Given the description of an element on the screen output the (x, y) to click on. 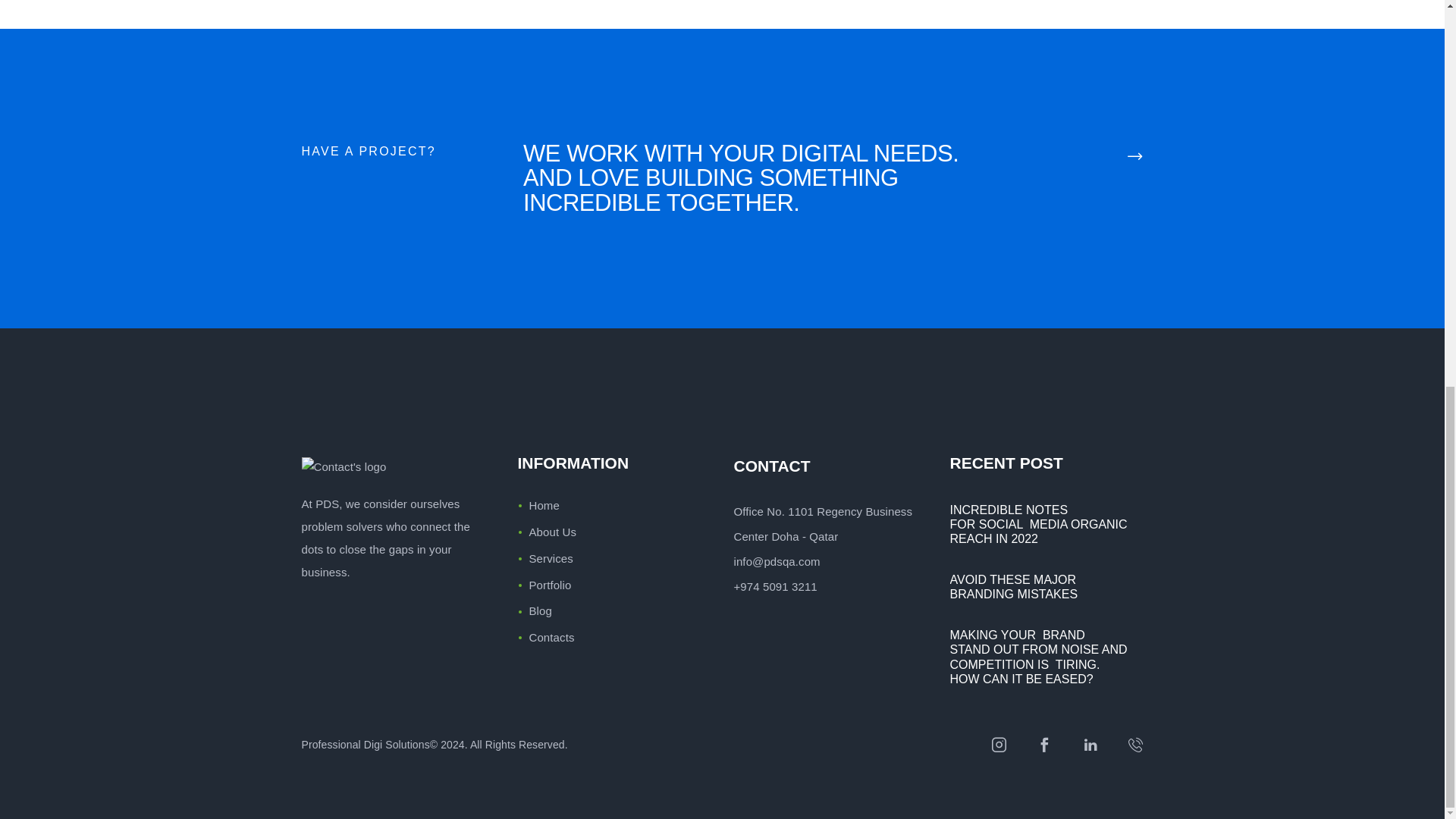
Portfolio (550, 584)
Blog (540, 610)
Home (544, 504)
INCREDIBLE NOTES FOR SOCIAL  MEDIA ORGANIC REACH IN 2022 (1045, 524)
AVOID THESE MAJOR BRANDING MISTAKES (1045, 586)
Contacts (552, 636)
About Us (552, 531)
Services (551, 558)
